Given the description of an element on the screen output the (x, y) to click on. 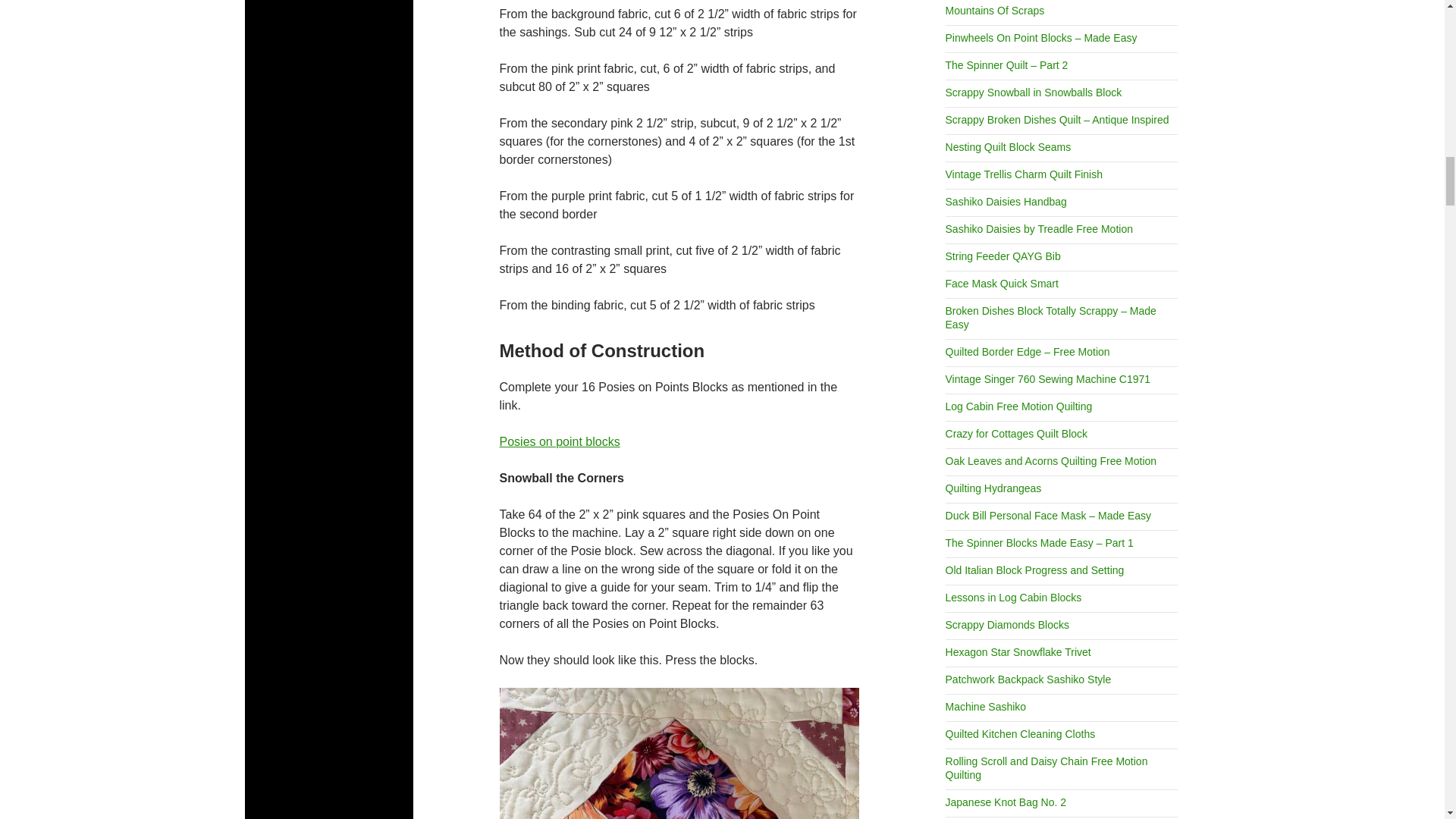
Posies on point blocks (559, 440)
